Given the description of an element on the screen output the (x, y) to click on. 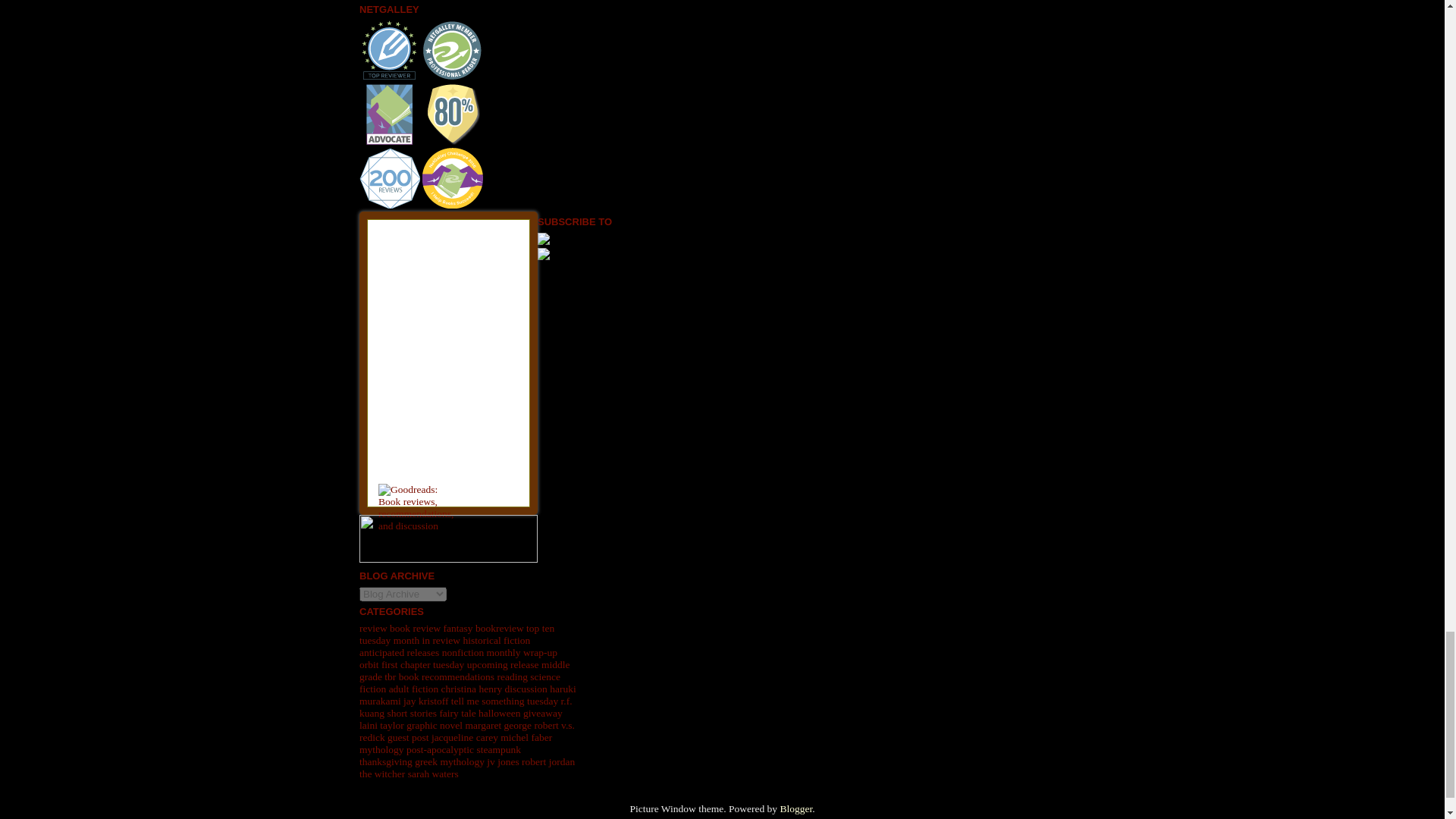
Professional Reader (452, 50)
Reviews Published (389, 50)
Challenge Participant (389, 114)
